Given the description of an element on the screen output the (x, y) to click on. 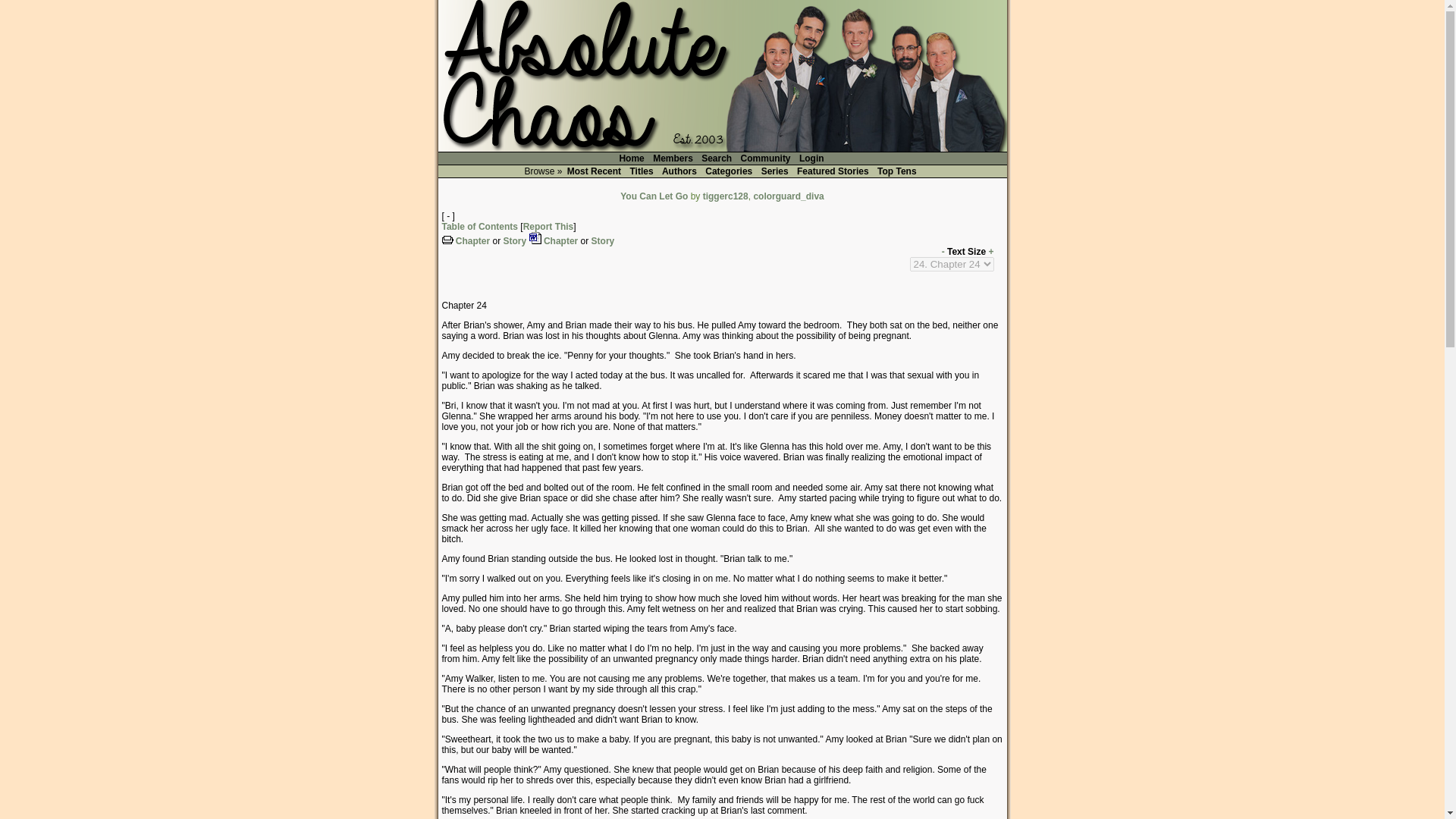
Featured Stories (832, 171)
Login (811, 158)
Series (774, 171)
Login (811, 158)
Titles (641, 171)
Categories (728, 171)
Community (765, 158)
Series (774, 171)
Search (715, 158)
Home (630, 158)
Top Tens (896, 171)
Top Tens (896, 171)
Most Recent (593, 171)
Titles (641, 171)
Story (515, 240)
